Given the description of an element on the screen output the (x, y) to click on. 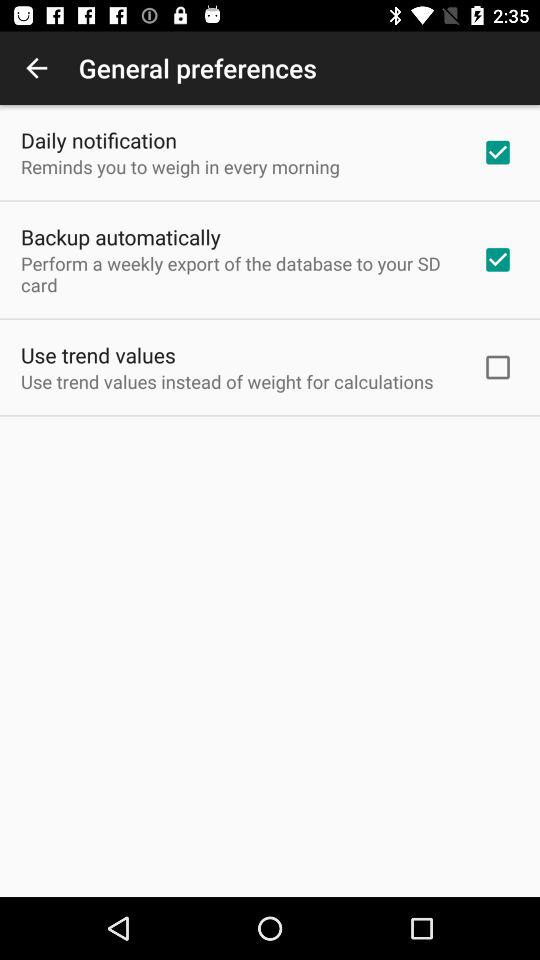
turn off the perform a weekly icon (238, 274)
